Given the description of an element on the screen output the (x, y) to click on. 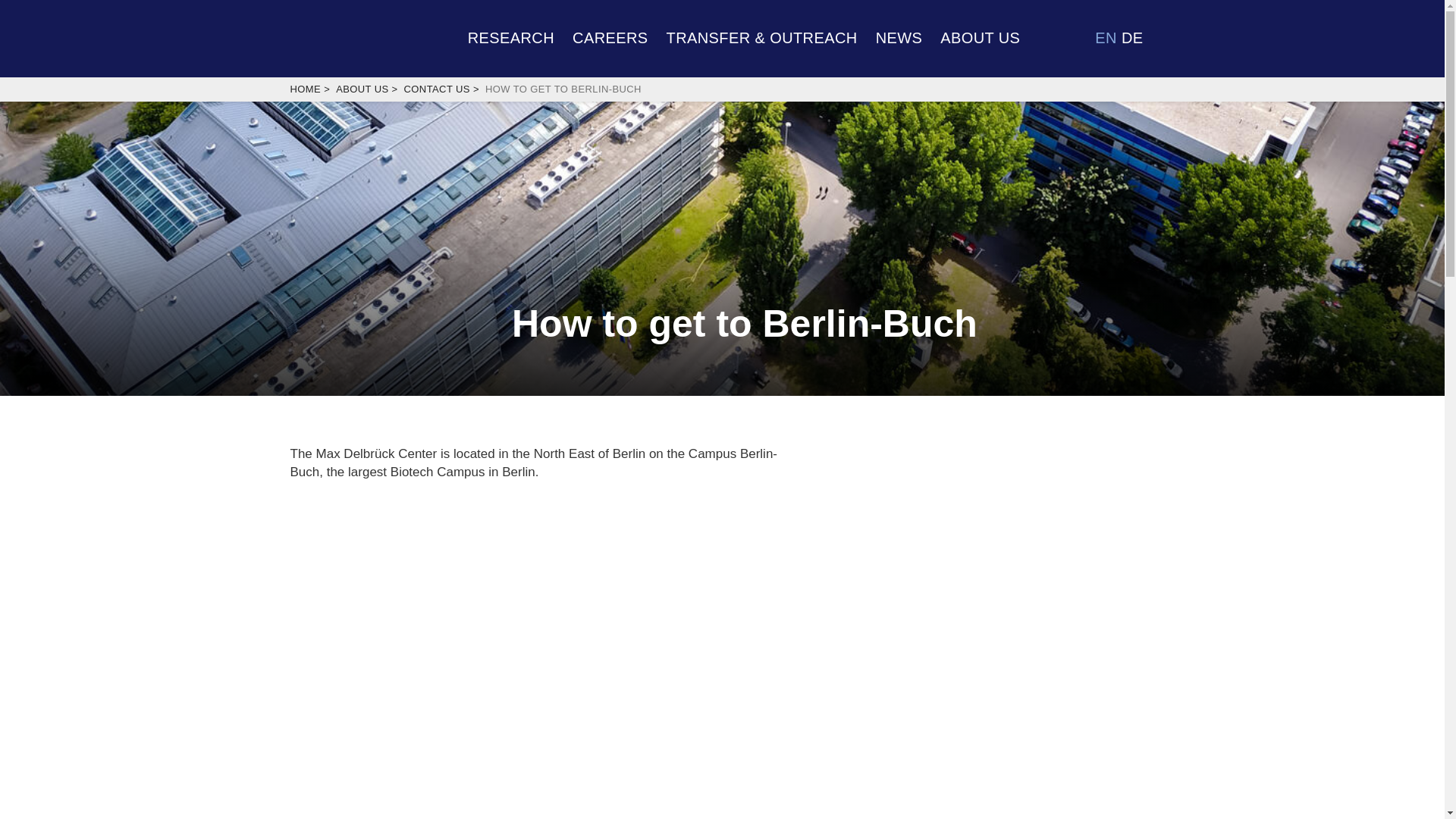
CAREERS (610, 36)
English (1105, 37)
RESEARCH (510, 36)
Deutsch (1131, 37)
